Given the description of an element on the screen output the (x, y) to click on. 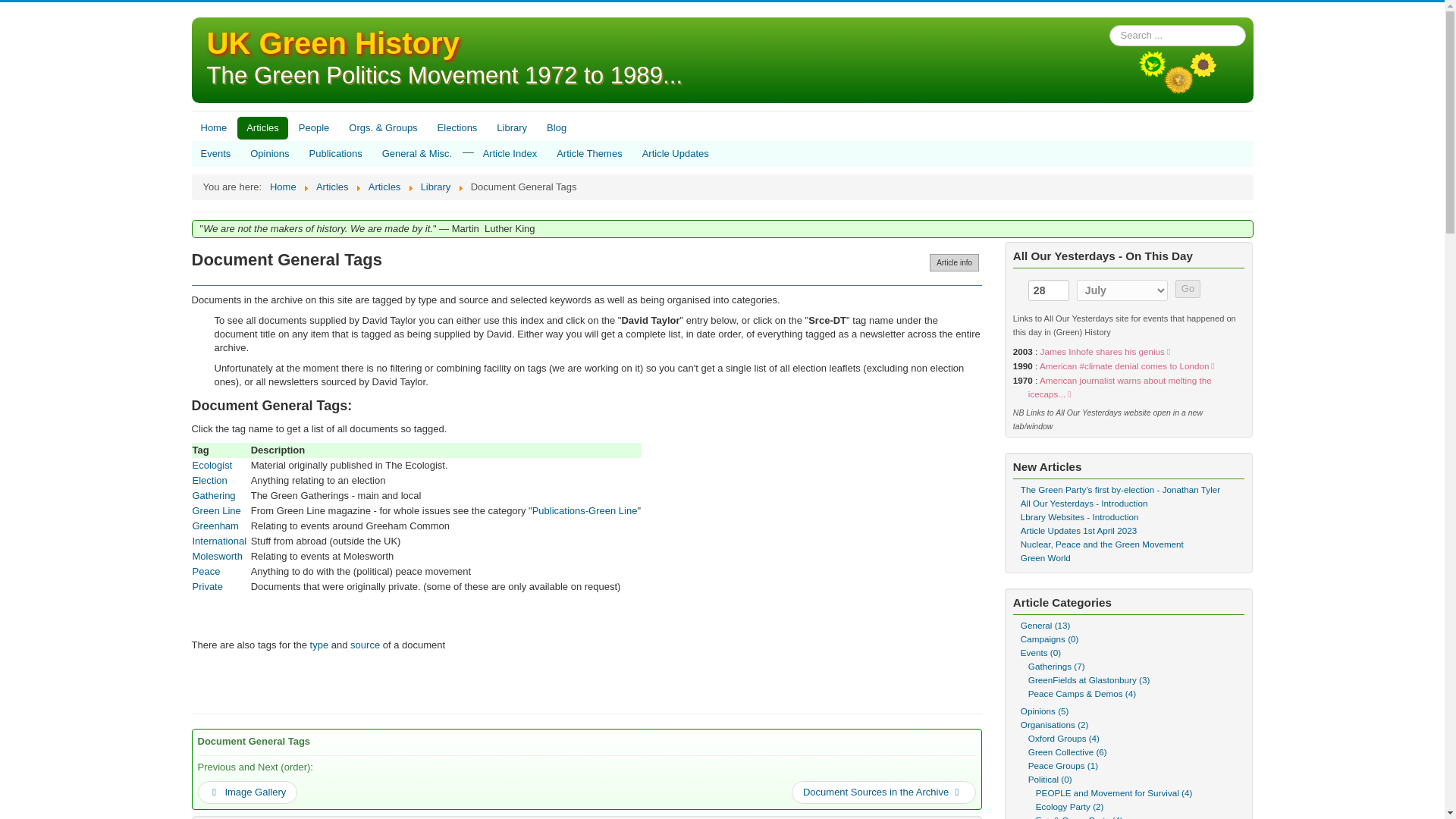
Green History UK (332, 42)
Document Sources in the Archive (883, 792)
Library (435, 186)
28 (1047, 290)
Article info (954, 262)
Peace (206, 571)
People (313, 128)
Articles (384, 186)
Image Gallery (246, 792)
Article Themes (588, 153)
Greenham (215, 525)
Green Line (216, 510)
Articles (262, 128)
Publications (335, 153)
Article Index (510, 153)
